Given the description of an element on the screen output the (x, y) to click on. 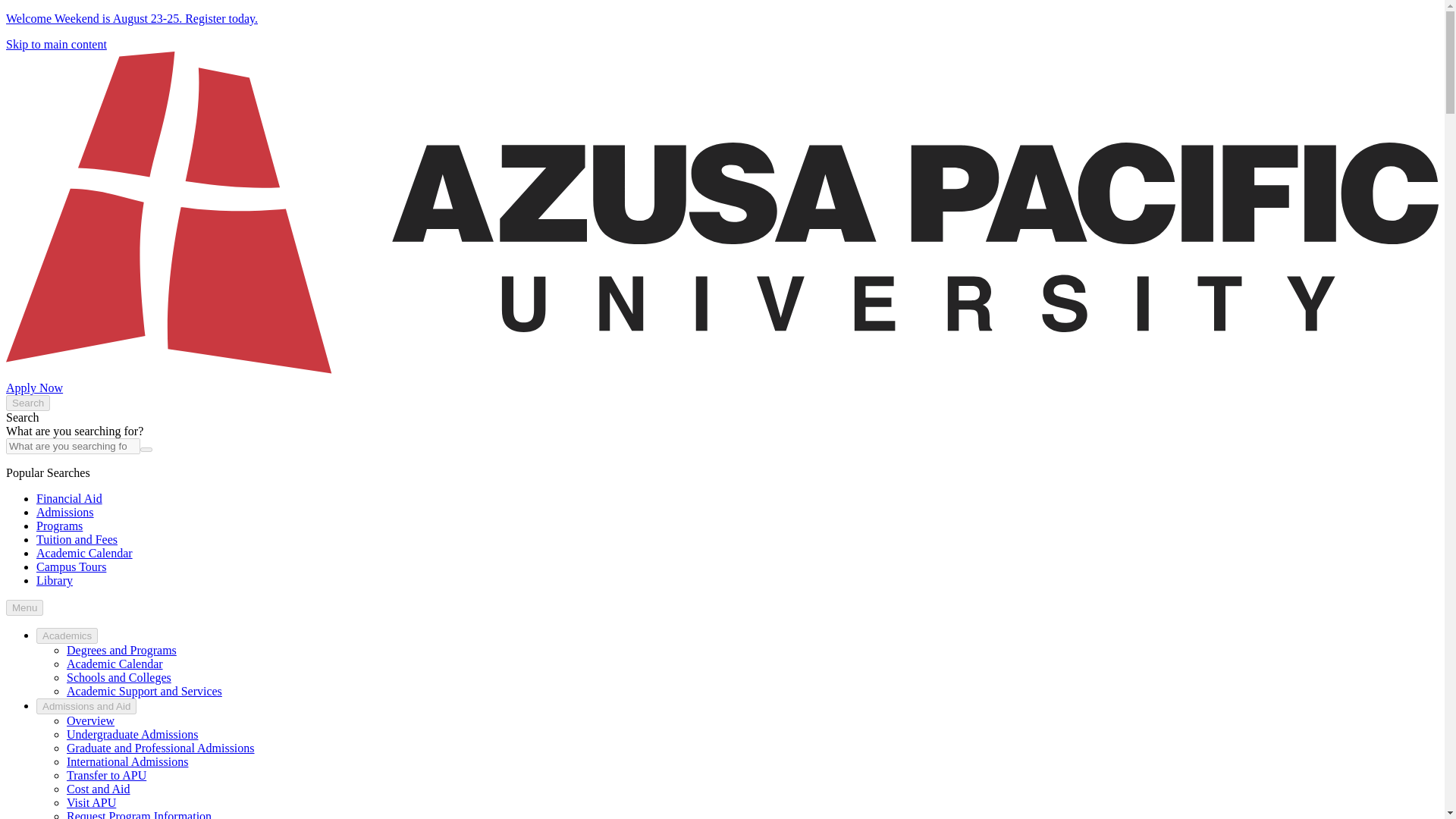
Academic Calendar (114, 663)
Undergraduate Admissions (132, 734)
Admissions (65, 512)
Academics (66, 635)
Degrees and Programs (121, 649)
Campus Tours (71, 566)
Search (27, 402)
Skip to main content (55, 43)
International Admissions (126, 761)
Academic Calendar (84, 553)
Graduate and Professional Admissions (160, 748)
Visit APU (91, 802)
Library (54, 580)
Apply Now (33, 387)
Financial Aid (68, 498)
